Given the description of an element on the screen output the (x, y) to click on. 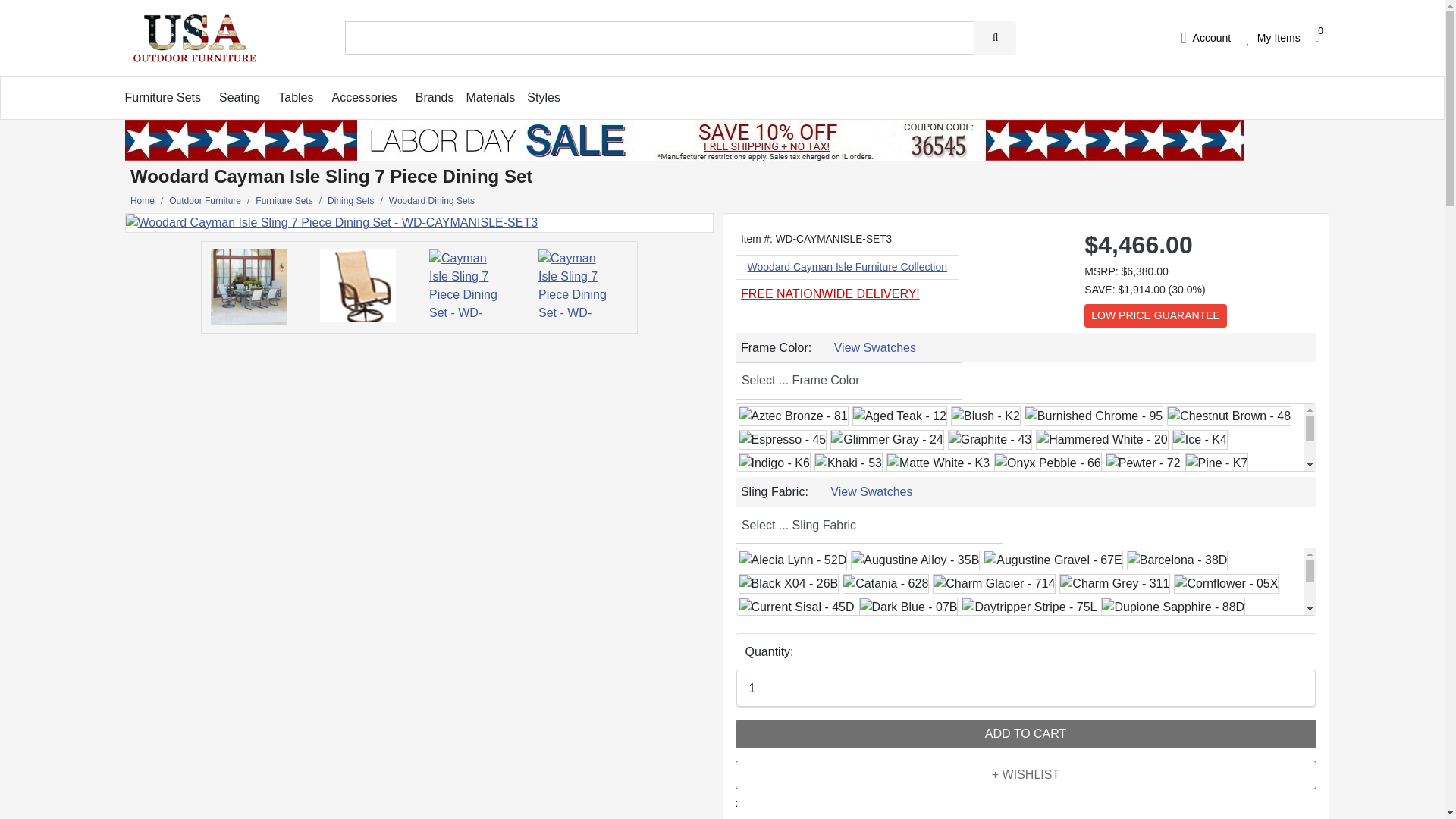
Add to Cart (1025, 733)
Seating (239, 97)
My Items (1273, 37)
Account (1205, 37)
Tables (295, 97)
1 (1024, 687)
Furniture Sets (161, 97)
